Given the description of an element on the screen output the (x, y) to click on. 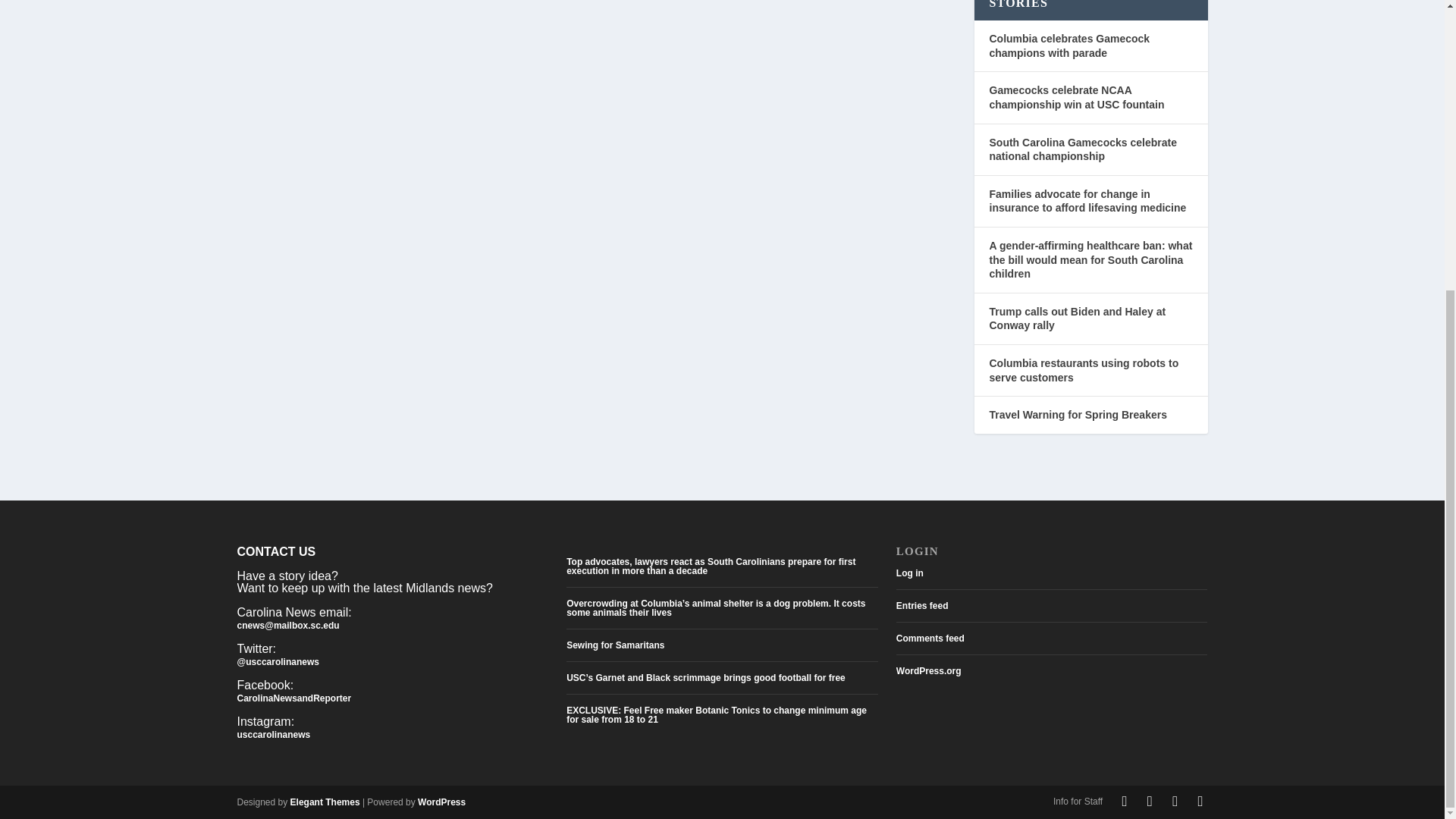
Travel Warning for Spring Breakers (1077, 414)
Gamecocks celebrate NCAA championship win at USC fountain (1075, 97)
CarolinaNewsandReporter (292, 697)
South Carolina Gamecocks celebrate national championship (1082, 149)
Trump calls out Biden and Haley at Conway rally (1077, 318)
Columbia restaurants using robots to serve customers (1082, 370)
Sewing for Samaritans (614, 644)
